Given the description of an element on the screen output the (x, y) to click on. 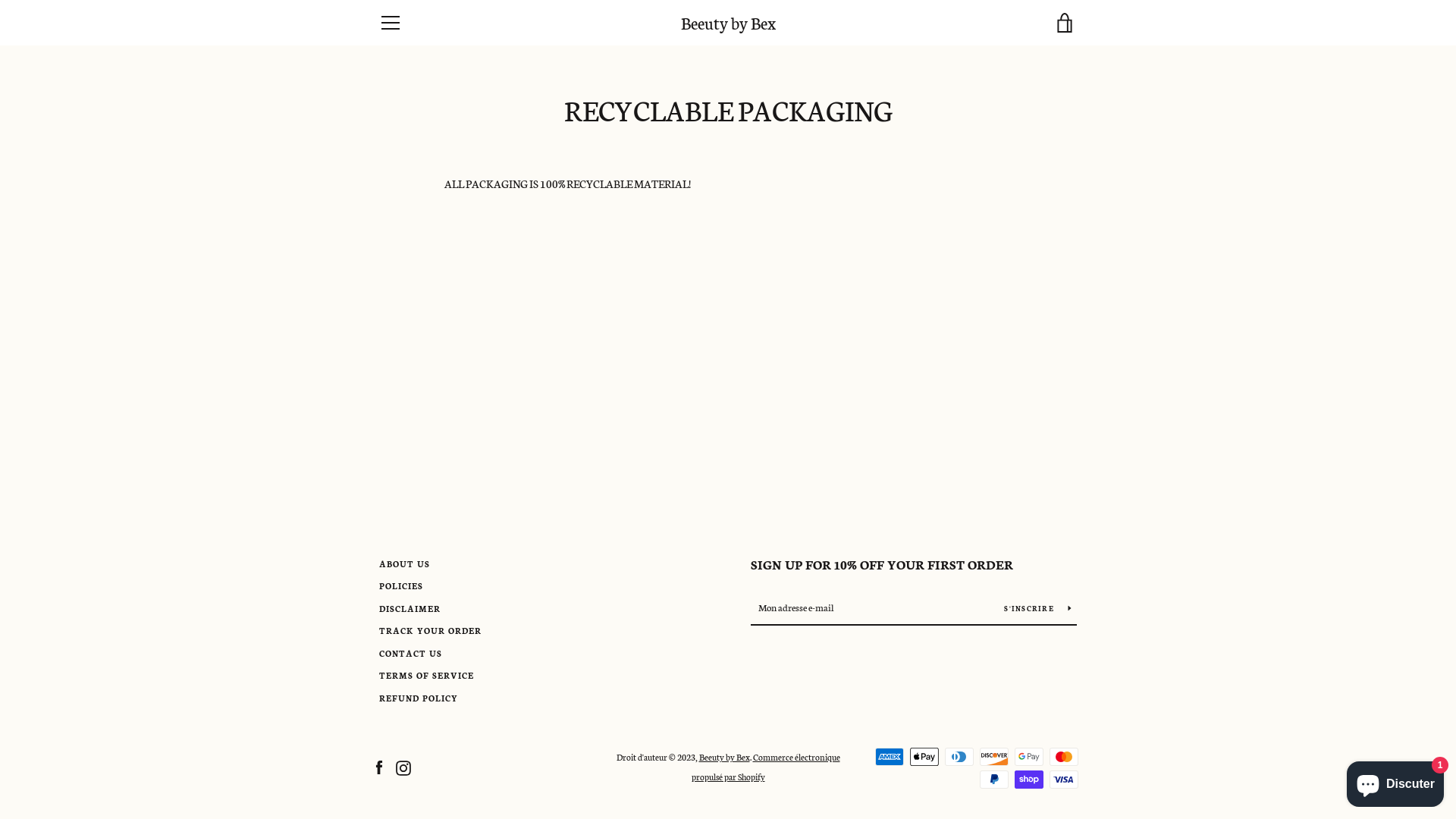
Beeuty by Bex Element type: text (724, 756)
TERMS OF SERVICE Element type: text (426, 674)
REFUND POLICY Element type: text (418, 696)
MENU Element type: text (390, 22)
ABOUT US Element type: text (404, 563)
TRACK YOUR ORDER Element type: text (430, 630)
Passer au contenu Element type: text (0, 0)
DISCLAIMER Element type: text (409, 607)
CONTACT US Element type: text (410, 652)
POLICIES Element type: text (401, 585)
Beeuty by Bex Element type: text (727, 23)
S'INSCRIRE Element type: text (1037, 607)
VOIR LE PANIER Element type: text (1065, 22)
Facebook Element type: text (378, 765)
Instagram Element type: text (403, 765)
Chat de la boutique en ligne Shopify Element type: hover (1395, 780)
